Given the description of an element on the screen output the (x, y) to click on. 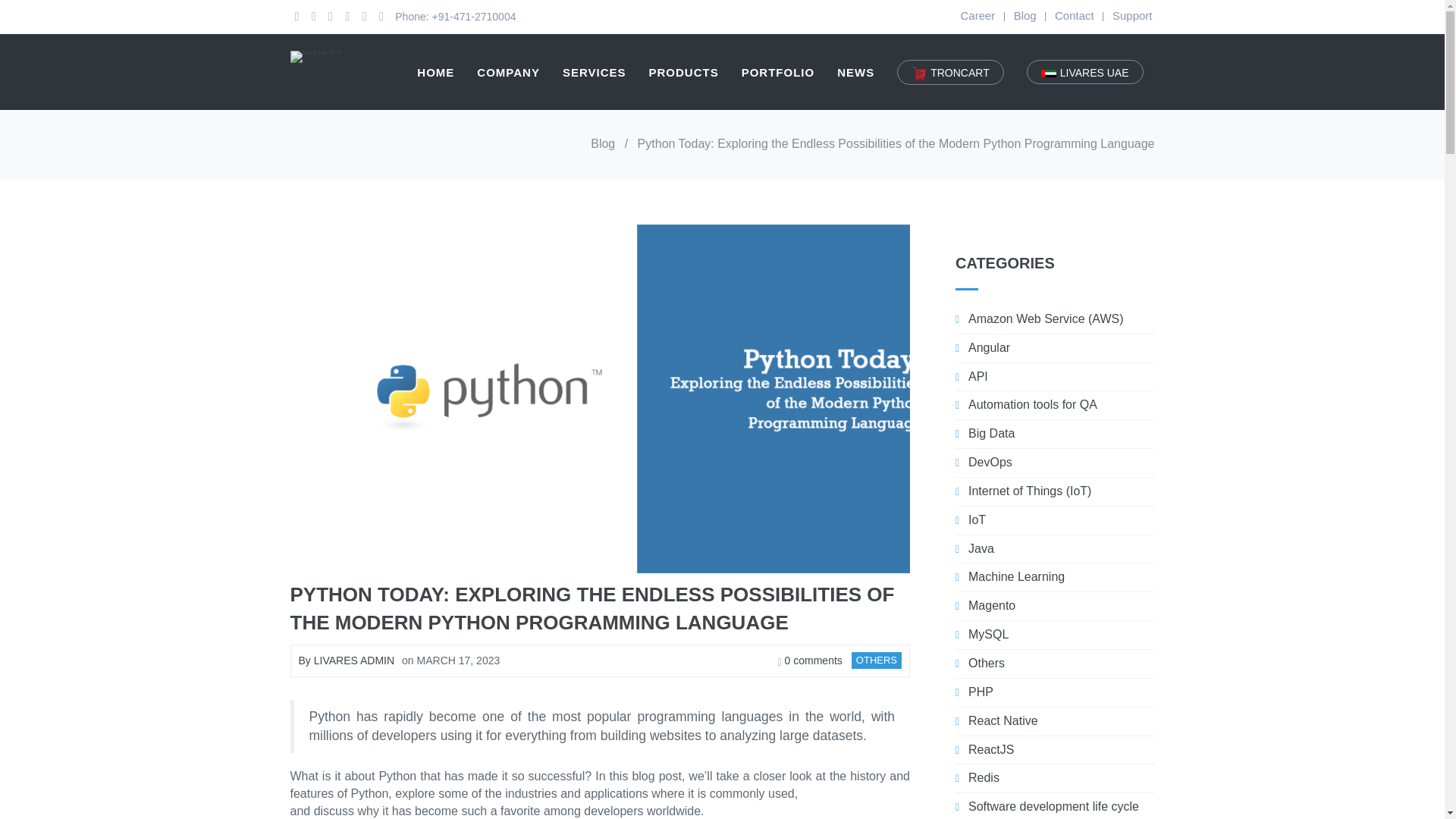
By LIVARES ADMIN (346, 660)
COMPANY (508, 71)
PORTFOLIO (778, 71)
Blog (1024, 15)
Celebrating 15th Anniversary - Feb 2024 (314, 55)
Career (976, 15)
PRODUCTS (683, 71)
Support (1132, 15)
Troncart Solutions Pvt Ltd (950, 72)
Livares AutoTech Global LLC (1084, 71)
Contact (1074, 15)
LIVARES UAE (1084, 71)
Blog (602, 143)
TRONCART (950, 72)
SERVICES (594, 71)
